Given the description of an element on the screen output the (x, y) to click on. 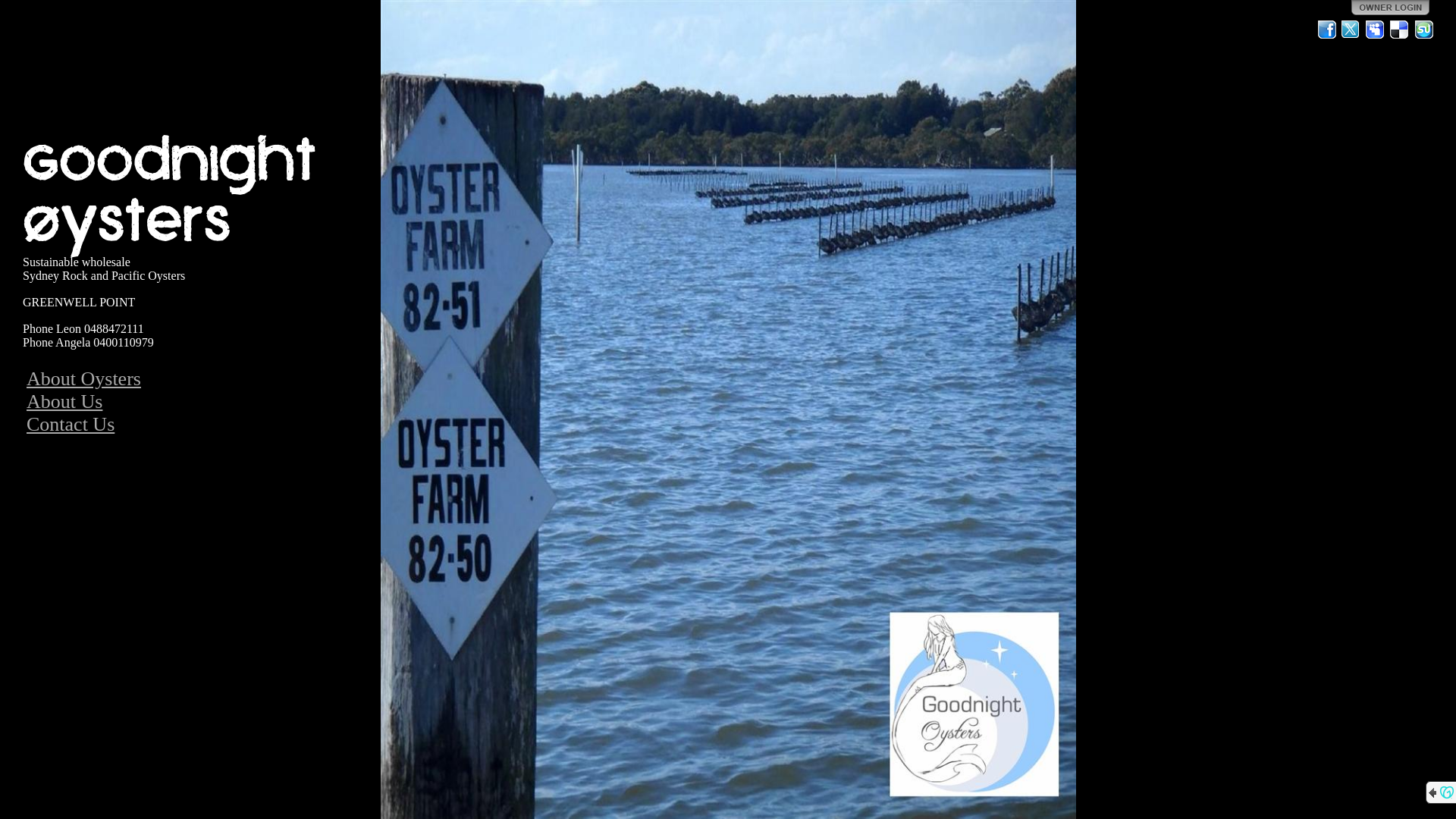
Facebook Element type: text (1326, 29)
Del.icio.us Element type: text (1399, 29)
About Oysters Element type: text (83, 378)
StumbleUpon Element type: text (1423, 29)
Twitter Element type: text (1350, 29)
About Us Element type: text (64, 401)
MySpace Element type: text (1375, 29)
Contact Us Element type: text (70, 424)
